Given the description of an element on the screen output the (x, y) to click on. 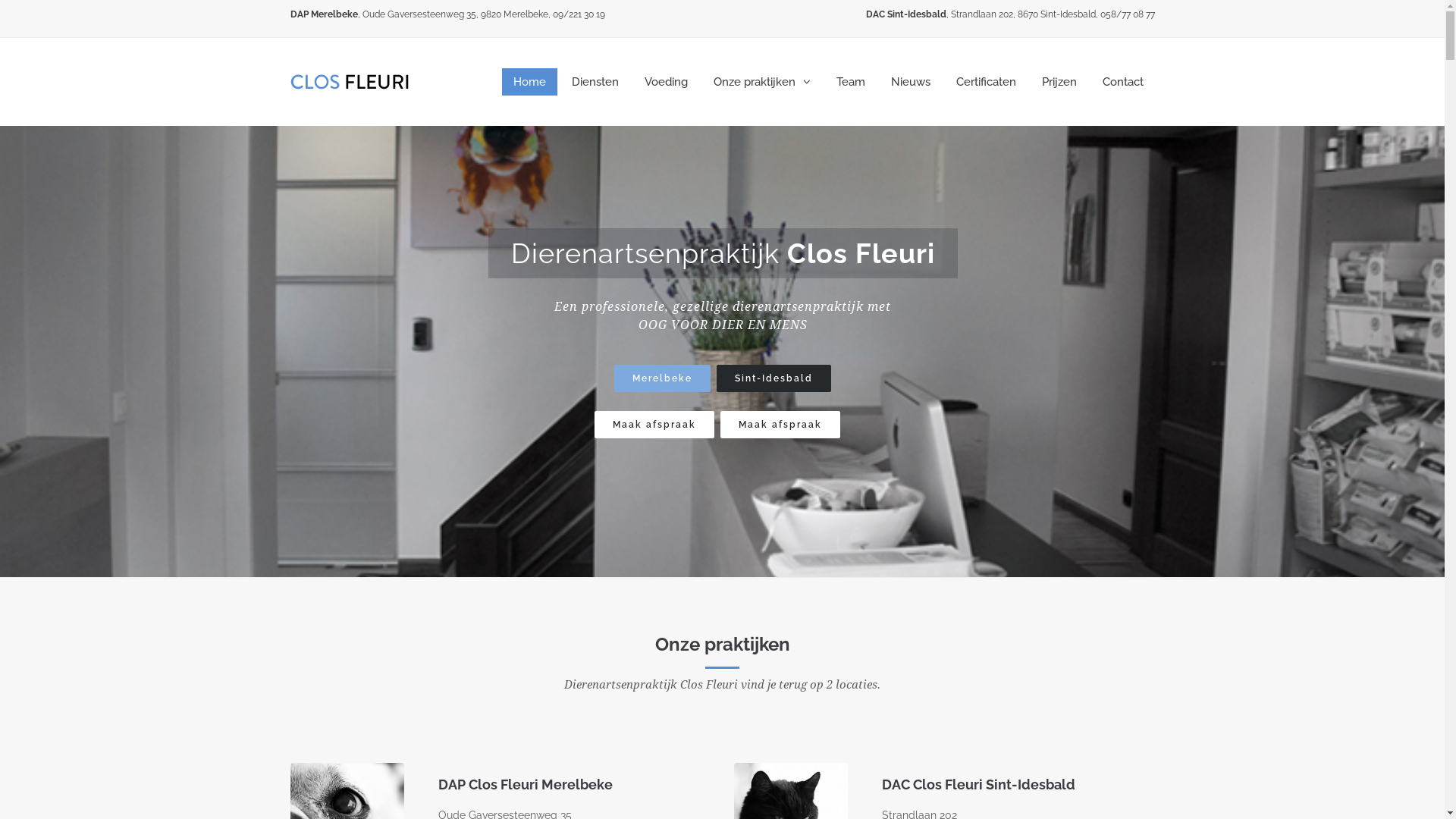
Certificaten Element type: text (985, 81)
Team Element type: text (850, 81)
Onze praktijken Element type: text (762, 81)
Voeding Element type: text (665, 81)
Maak afspraak Element type: text (654, 424)
Sint-Idesbald Element type: text (773, 378)
Nieuws Element type: text (910, 81)
Contact Element type: text (1122, 81)
Home Element type: text (529, 81)
Diensten Element type: text (594, 81)
Maak afspraak Element type: text (780, 424)
Prijzen Element type: text (1058, 81)
Merelbeke Element type: text (662, 378)
